Given the description of an element on the screen output the (x, y) to click on. 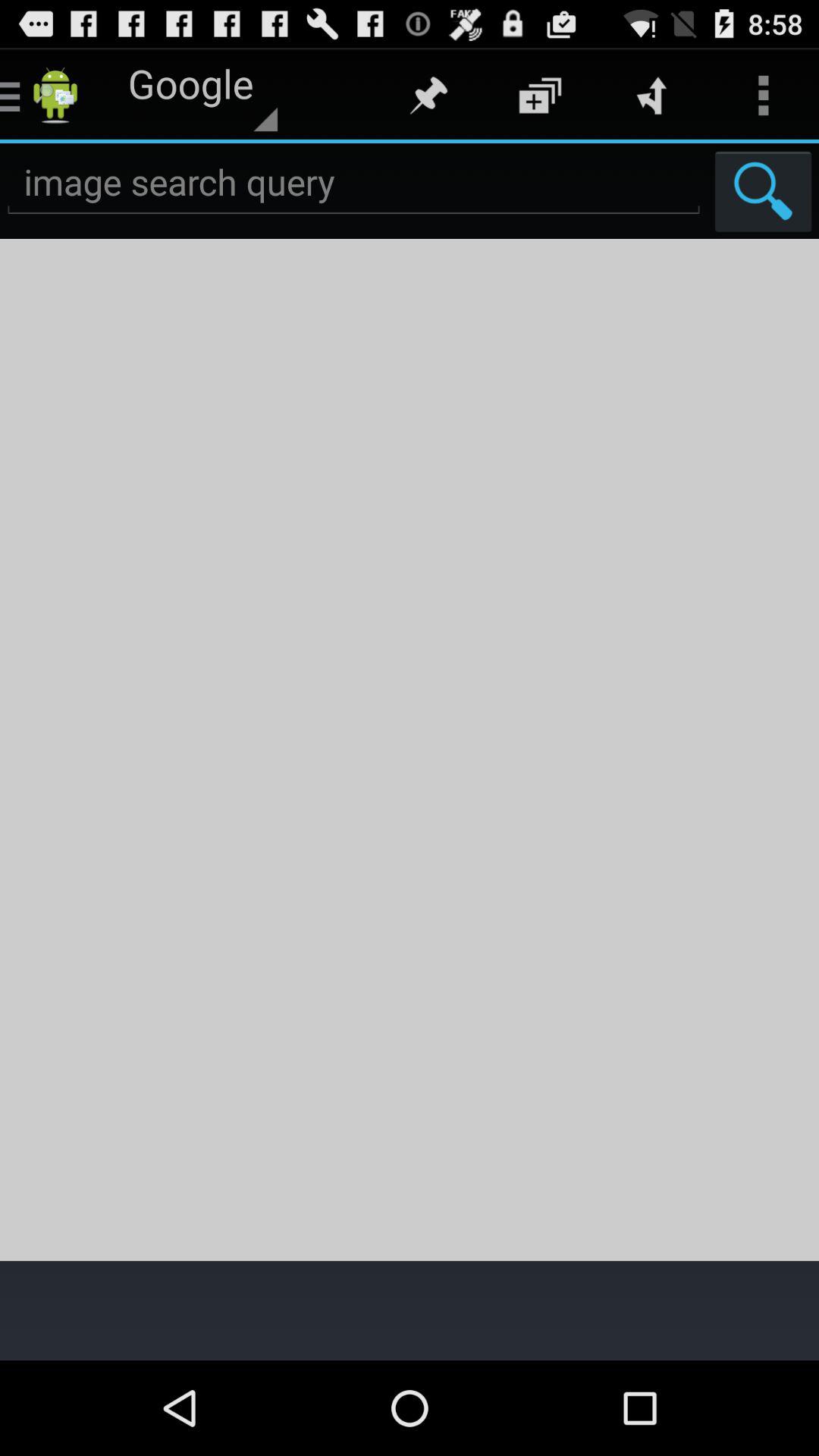
this icon is used to search the image (763, 190)
